Given the description of an element on the screen output the (x, y) to click on. 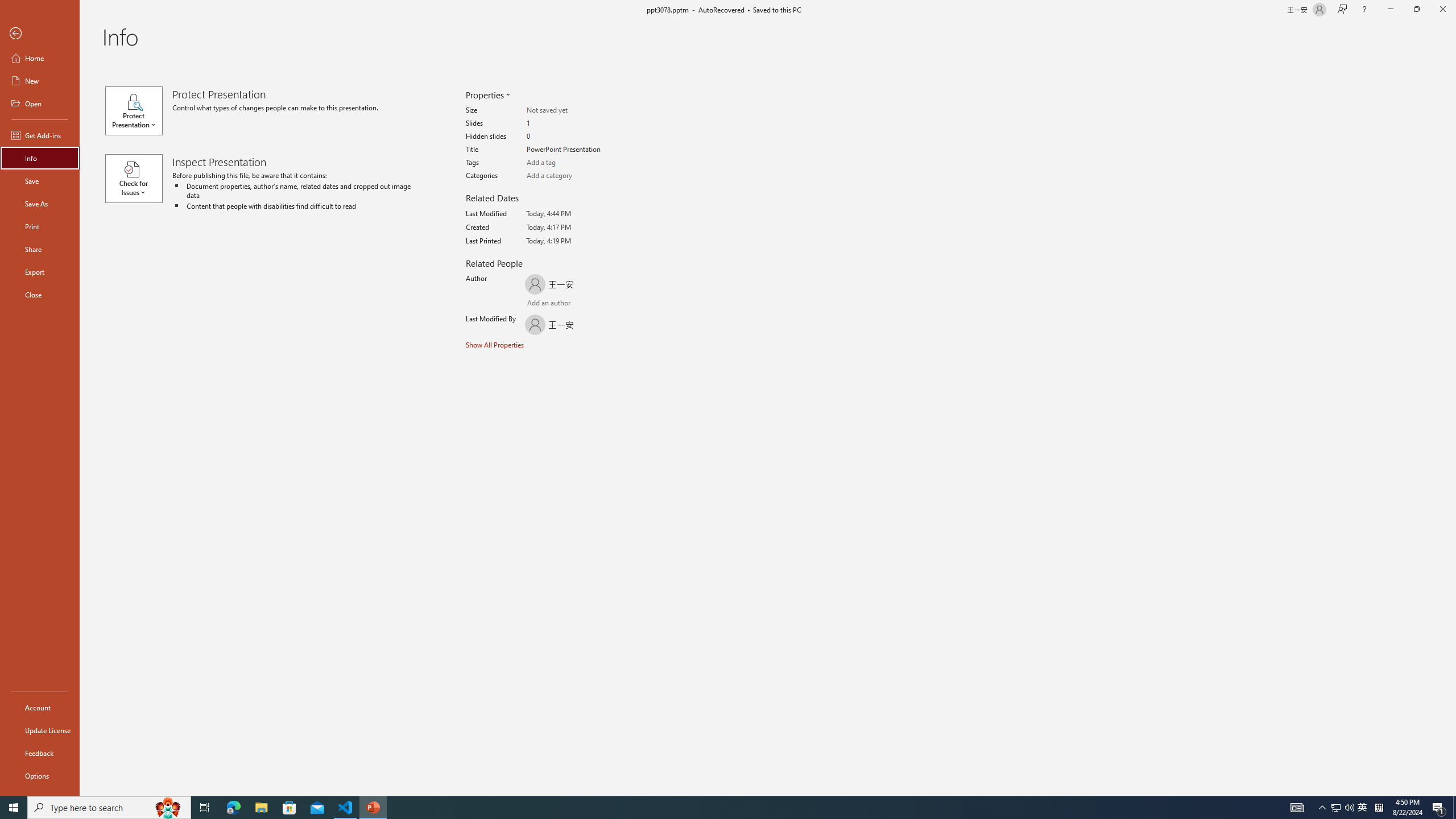
Properties (486, 94)
Update License (40, 730)
Add an author (538, 304)
Save As (40, 203)
New (40, 80)
Title (571, 149)
Verify Names (559, 304)
Show All Properties (495, 343)
Back (40, 33)
